Given the description of an element on the screen output the (x, y) to click on. 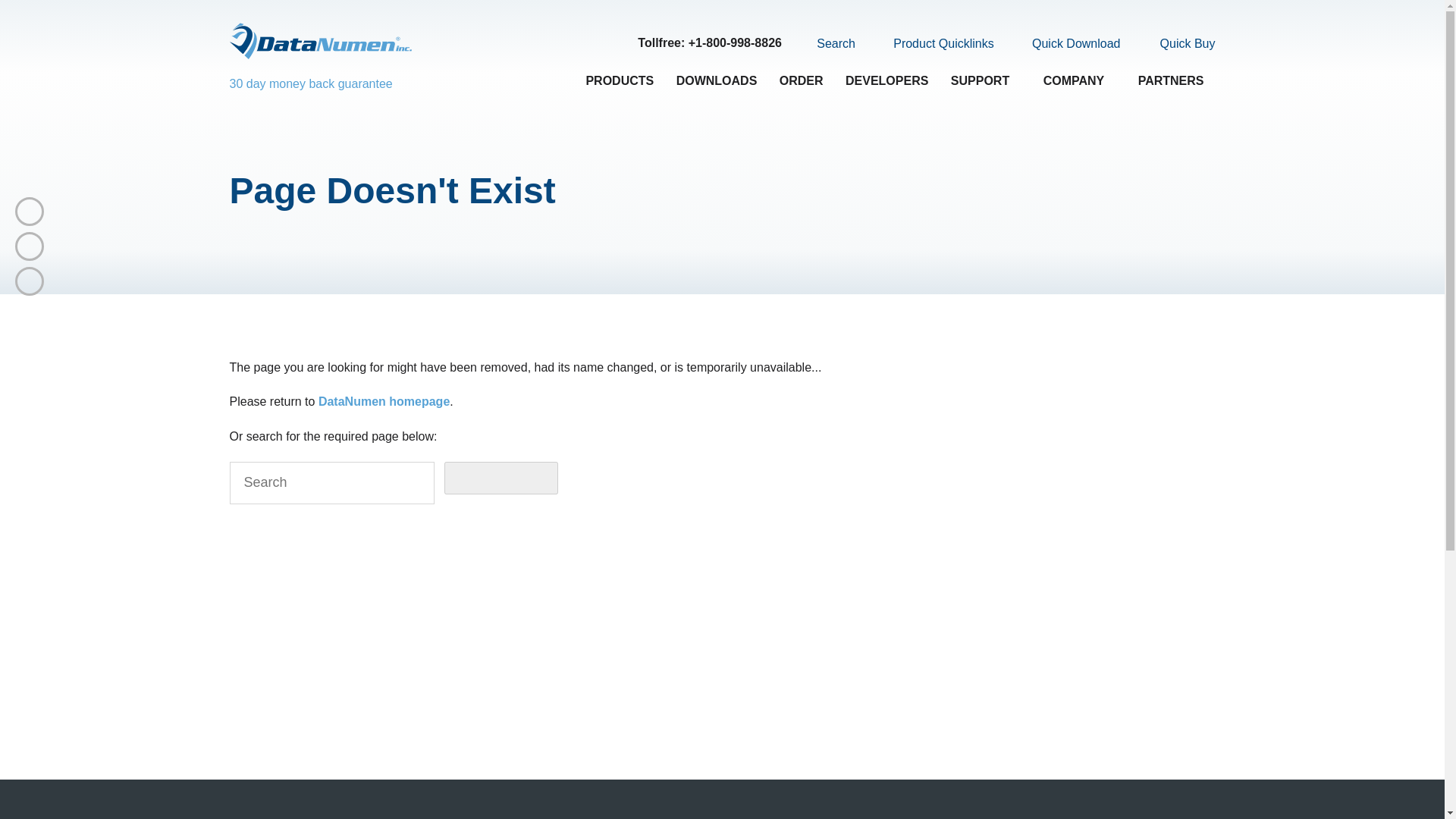
Quick Download (1066, 44)
Search for: (330, 482)
Product Quicklinks (934, 44)
Search (827, 43)
